Given the description of an element on the screen output the (x, y) to click on. 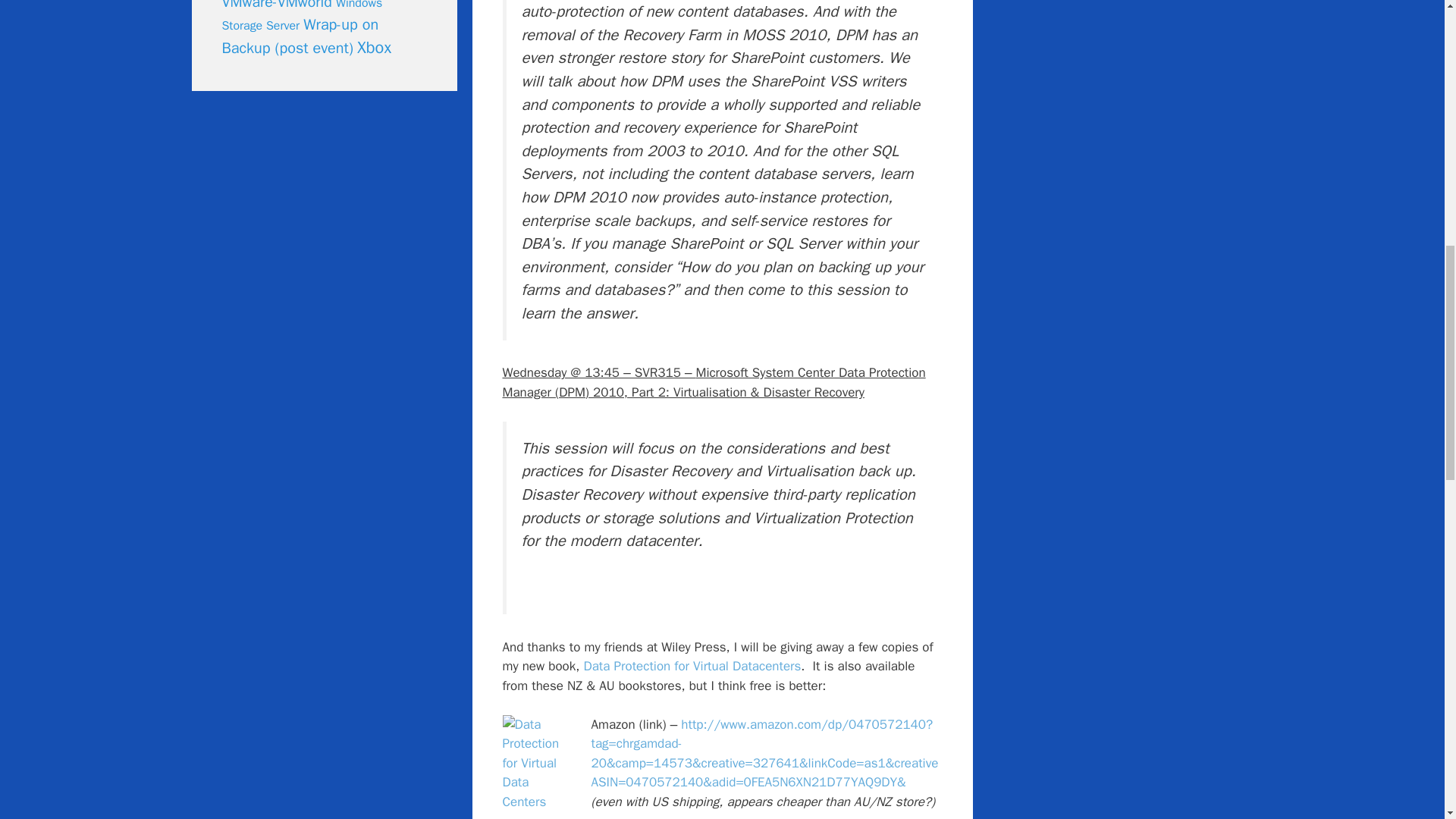
Data Protection for Virtual Datacenters (691, 666)
website for book -- Data Protection for Virtual Datacenters (691, 666)
